Given the description of an element on the screen output the (x, y) to click on. 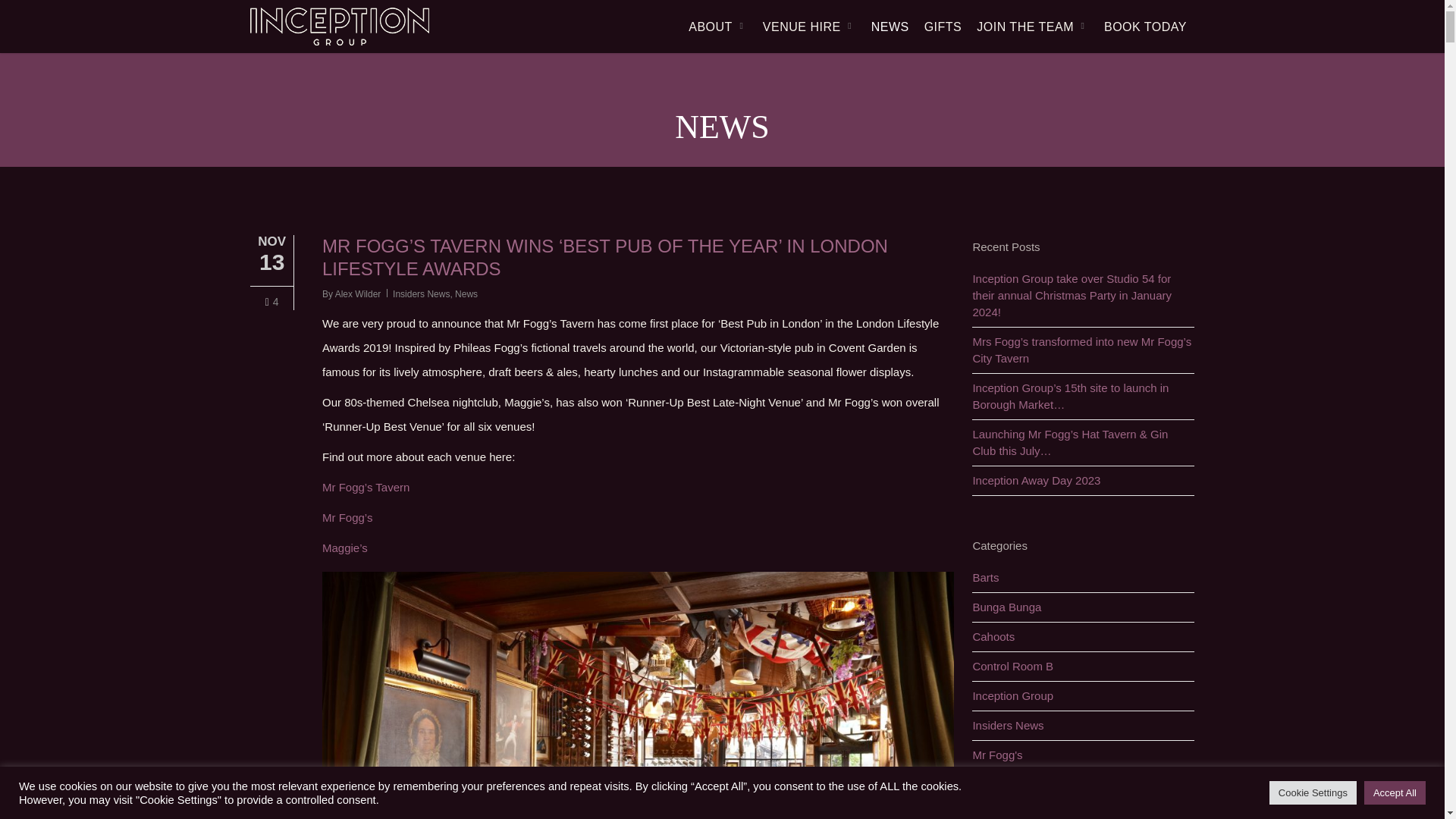
Posts by Alex Wilder (357, 294)
JOIN THE TEAM (1032, 25)
Love this (271, 301)
4 (271, 301)
BOOK TODAY (1144, 25)
VENUE HIRE (809, 25)
Insiders News (421, 294)
GIFTS (943, 25)
ABOUT (718, 25)
News (465, 294)
NEWS (890, 25)
Alex Wilder (357, 294)
